Given the description of an element on the screen output the (x, y) to click on. 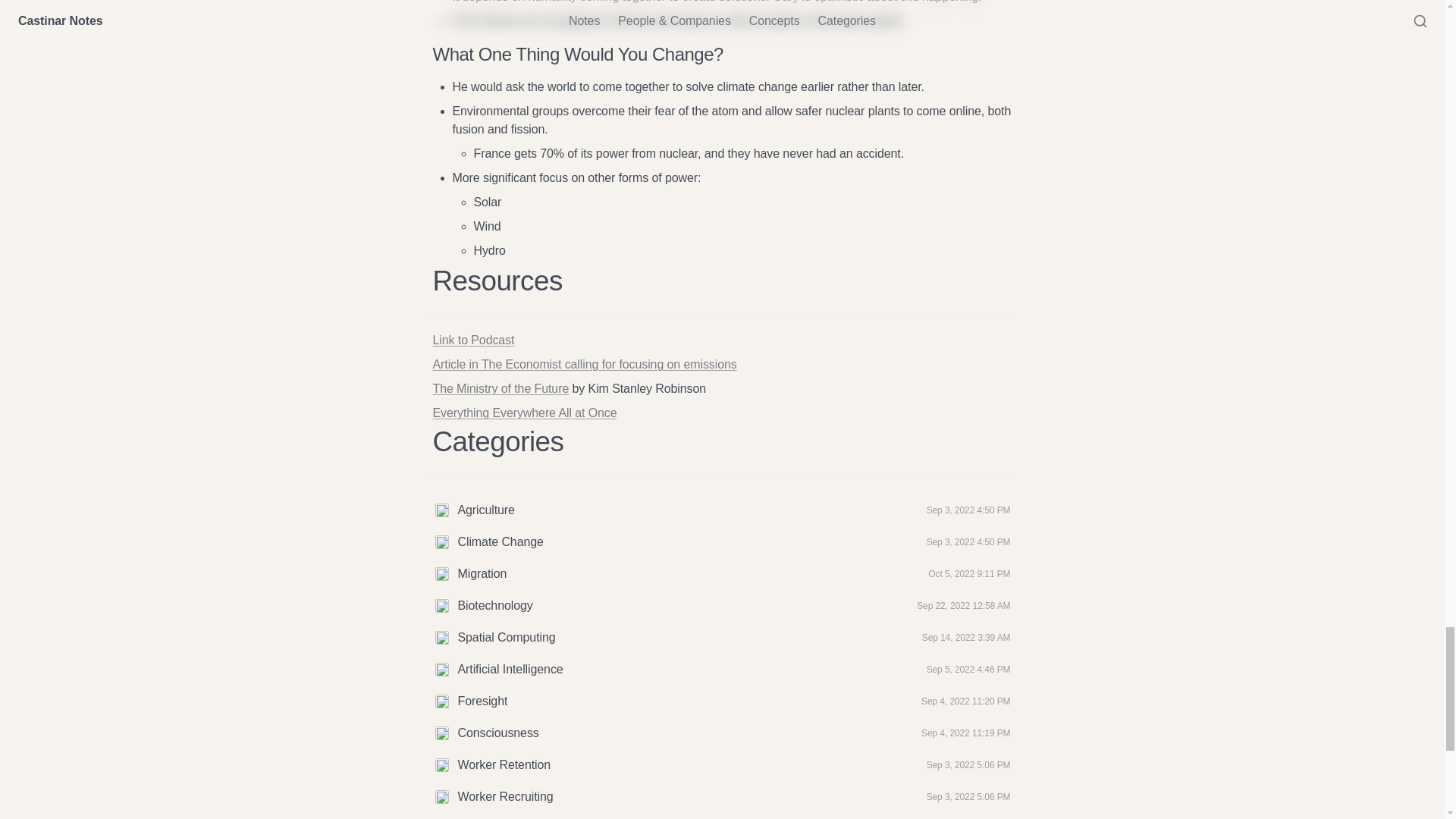
Everything Everywhere All at Once (523, 412)
Article in The Economist calling for focusing on emissions (584, 364)
The Ministry of the Future (500, 388)
Link to Podcast (472, 339)
